Given the description of an element on the screen output the (x, y) to click on. 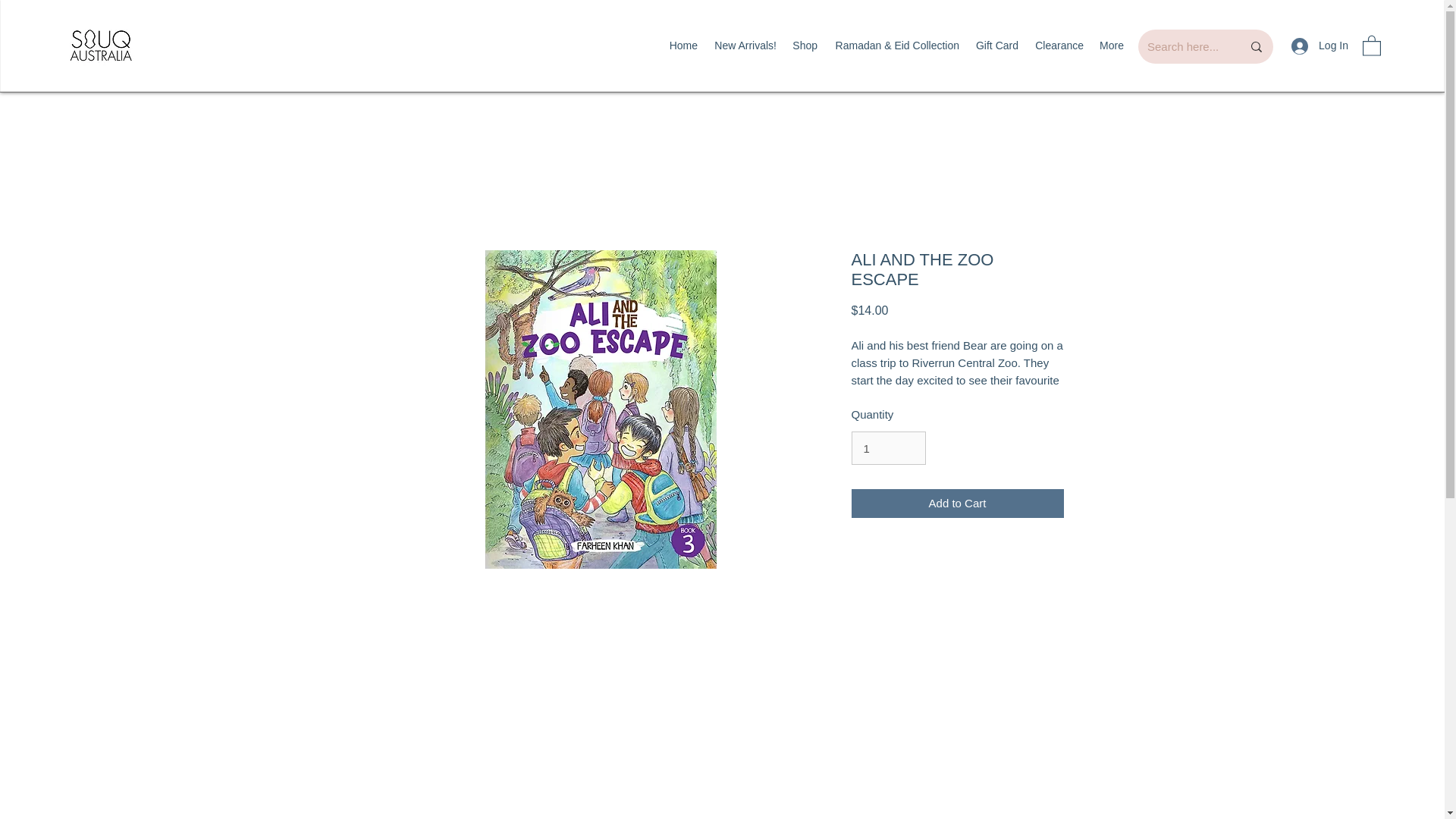
1 (887, 448)
New Arrivals! (744, 45)
Shop (804, 45)
Add to Cart (956, 503)
Log In (1319, 45)
Gift Card (996, 45)
Home (682, 45)
Clearance (1058, 45)
